Given the description of an element on the screen output the (x, y) to click on. 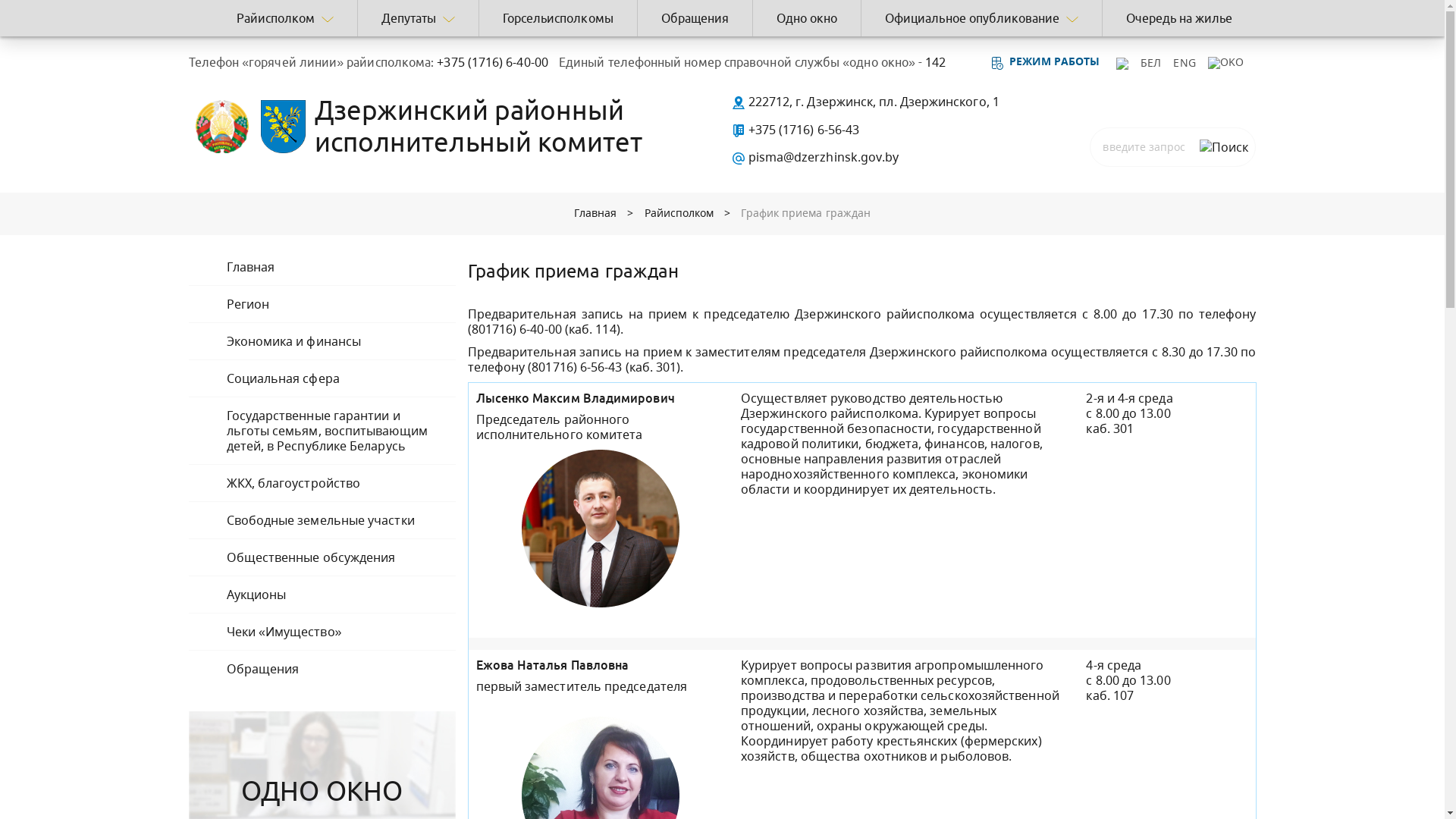
142 Element type: text (933, 61)
ENG Element type: text (1184, 62)
+375 (1716) 6-56-43 Element type: text (795, 129)
+375 (1716) 6-40-00 Element type: text (490, 61)
pisma@dzerzhinsk.gov.by Element type: text (814, 156)
